Given the description of an element on the screen output the (x, y) to click on. 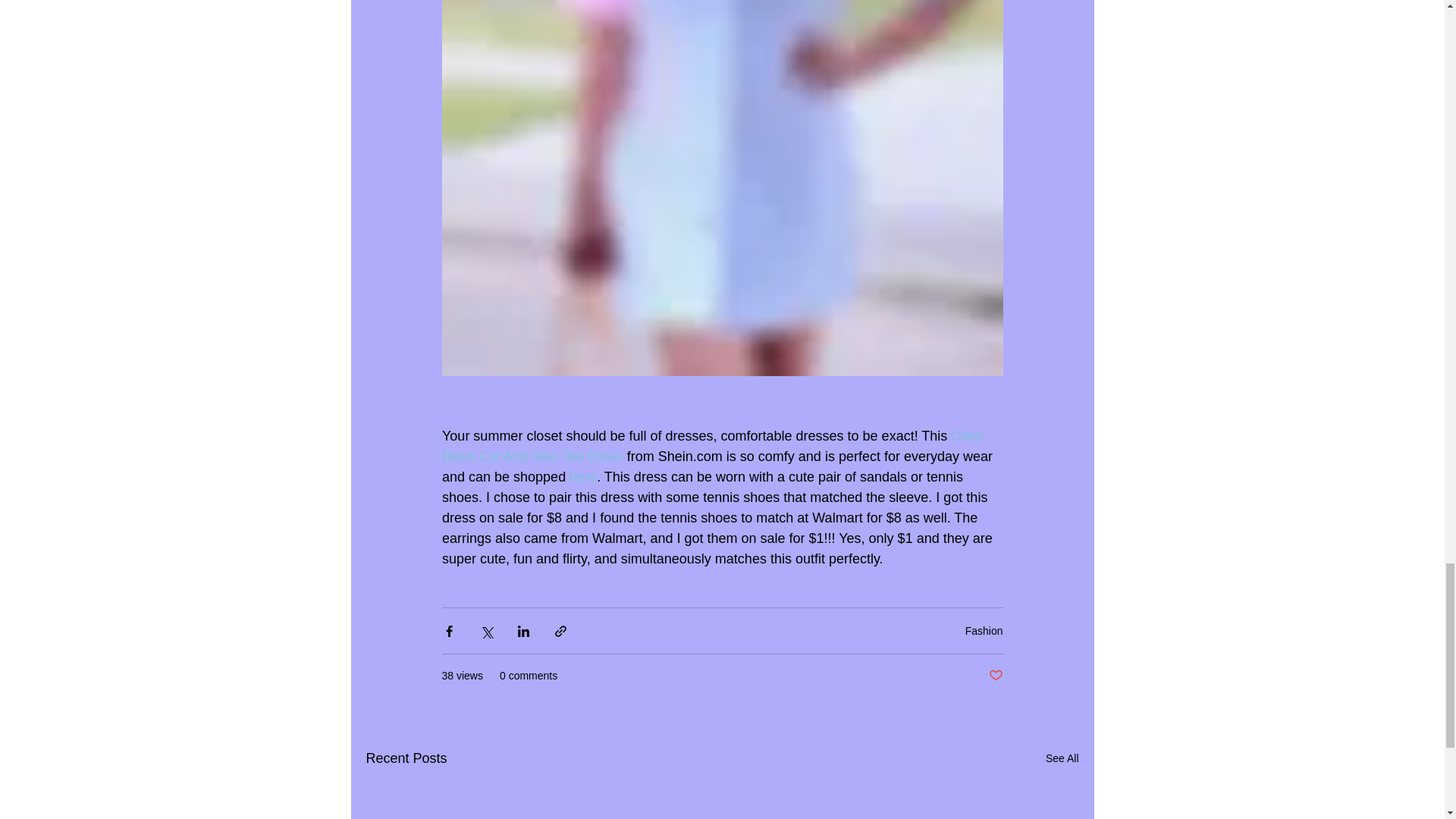
Fashion (984, 630)
 Color Block Cut And Sew Tee Dress (714, 446)
See All (1061, 758)
here (582, 476)
Post not marked as liked (995, 675)
